Given the description of an element on the screen output the (x, y) to click on. 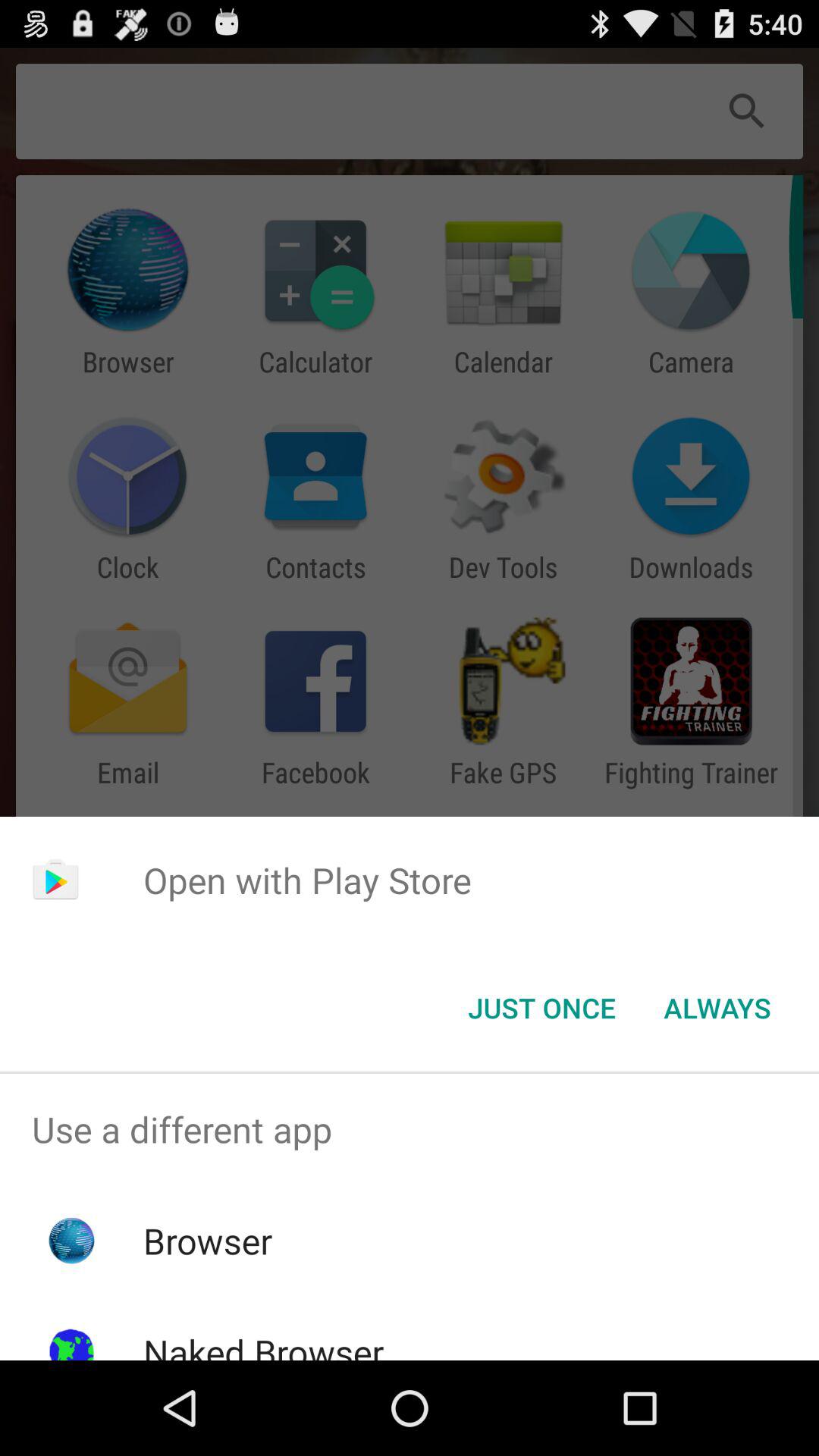
choose the icon below open with play app (541, 1007)
